Given the description of an element on the screen output the (x, y) to click on. 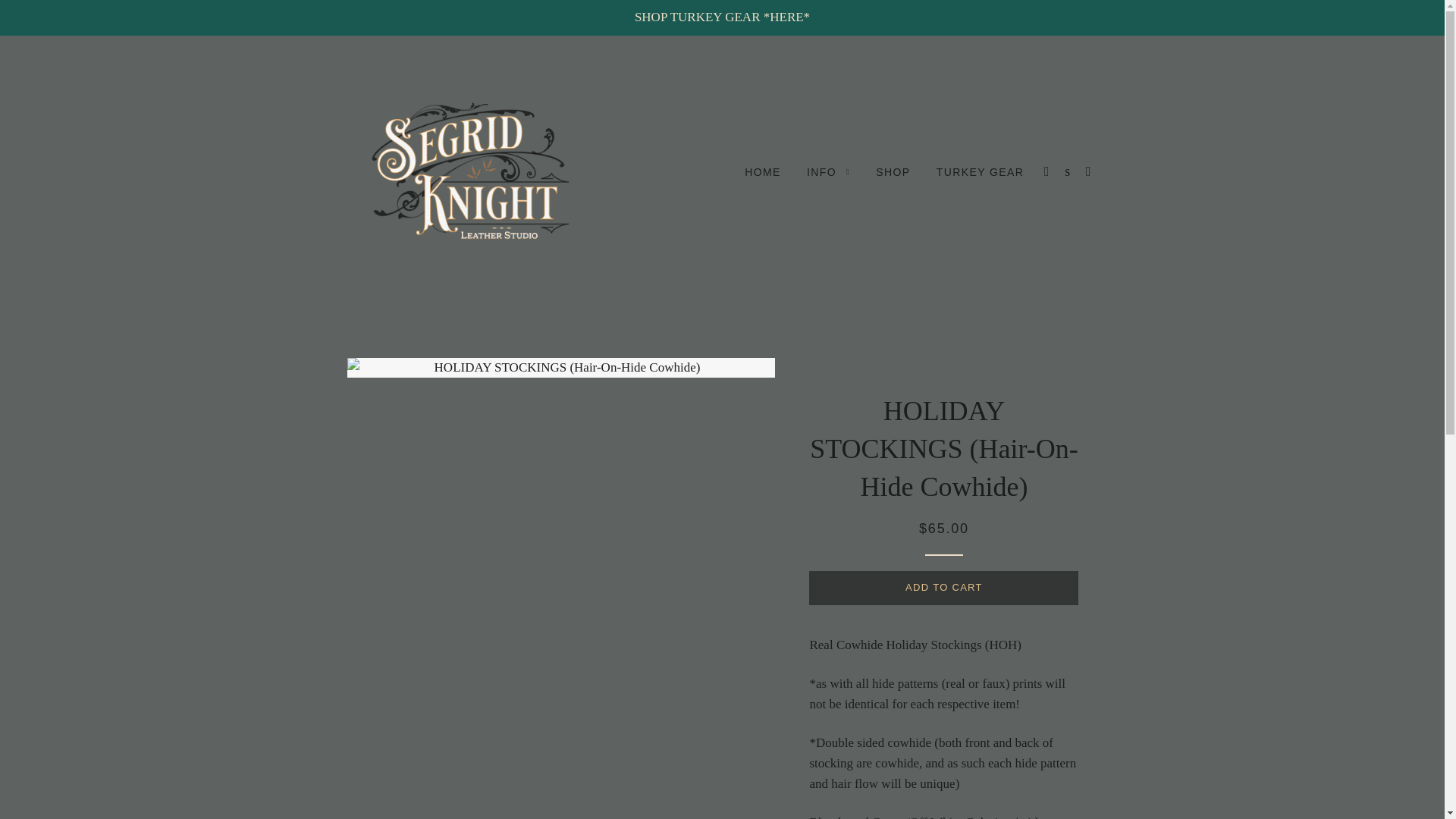
TURKEY GEAR (979, 172)
INFO (827, 172)
SHOP (892, 172)
HOME (762, 172)
